Given the description of an element on the screen output the (x, y) to click on. 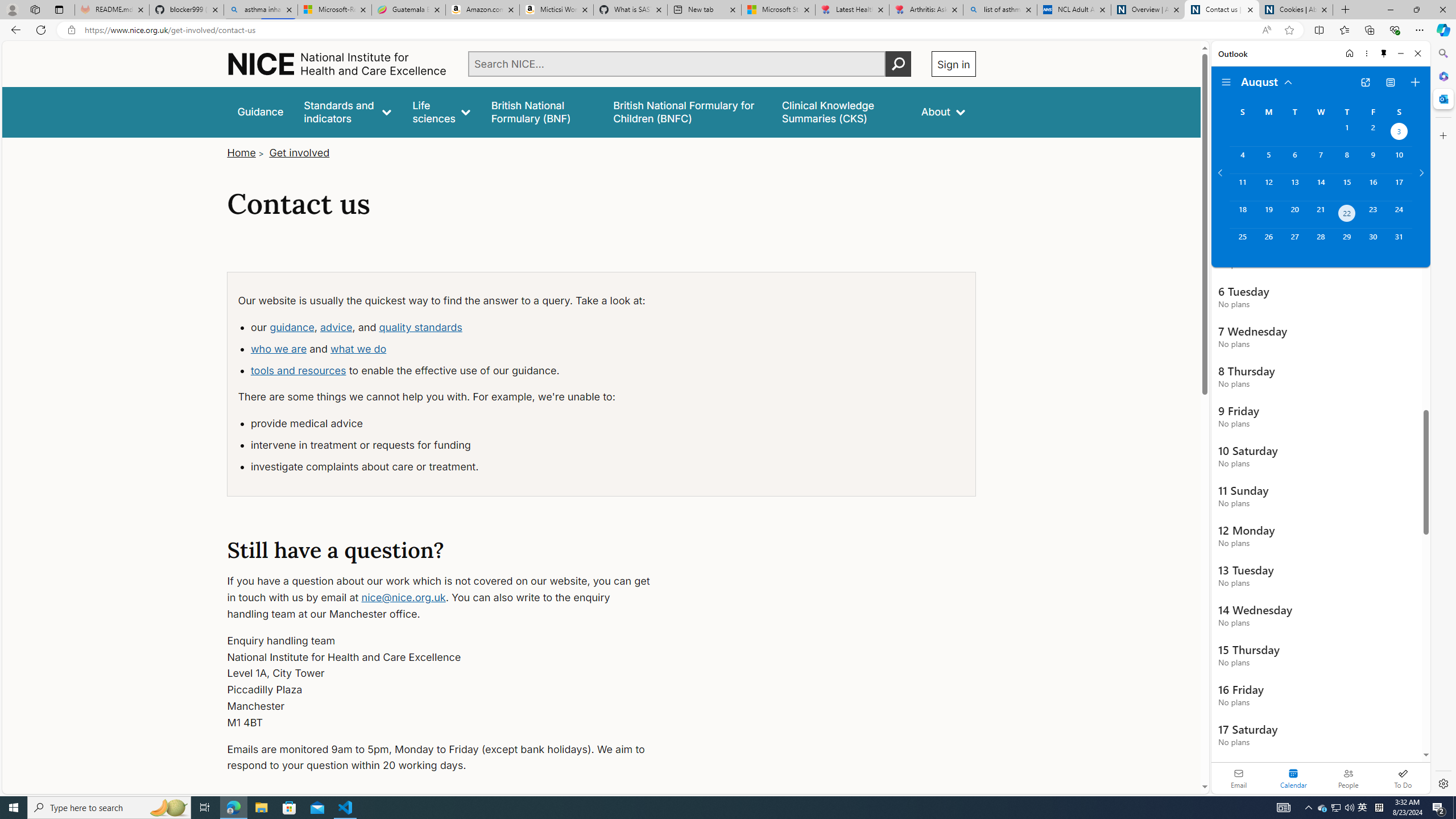
Sunday, August 4, 2024.  (1242, 159)
Friday, August 23, 2024.  (1372, 214)
To Do (1402, 777)
Selected calendar module. Date today is 22 (1293, 777)
Get involved (299, 152)
Monday, August 12, 2024.  (1268, 186)
Friday, August 2, 2024.  (1372, 132)
Sunday, August 11, 2024.  (1242, 186)
Wednesday, August 14, 2024.  (1320, 186)
